Given the description of an element on the screen output the (x, y) to click on. 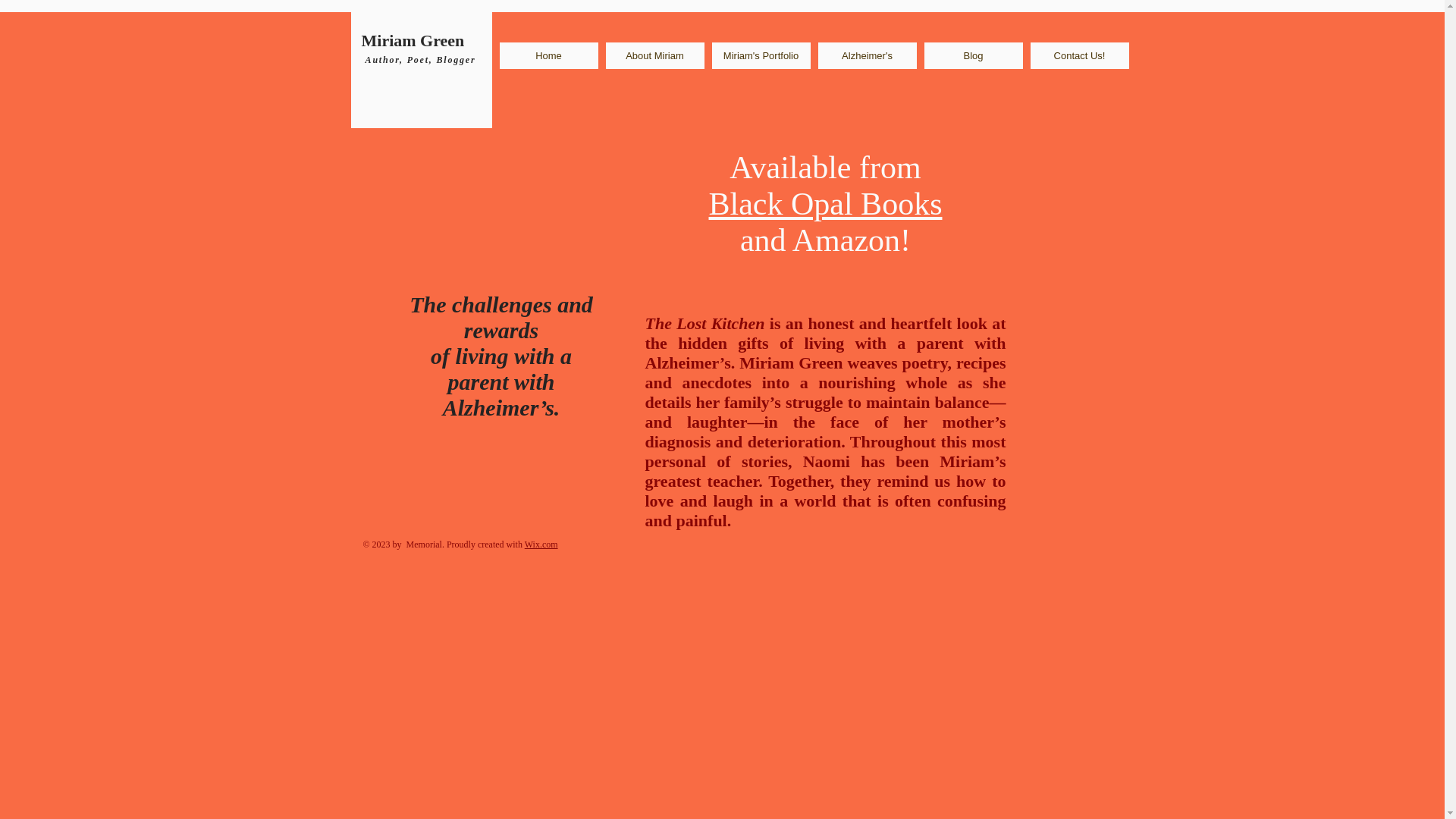
Blog (972, 55)
Wix.com (540, 543)
Alzheimer's (865, 55)
About Miriam (654, 55)
Contact Us! (1078, 55)
and Amazon! (825, 239)
Home (547, 55)
Black Opal Books (825, 203)
Miriam's Portfolio (760, 55)
